Given the description of an element on the screen output the (x, y) to click on. 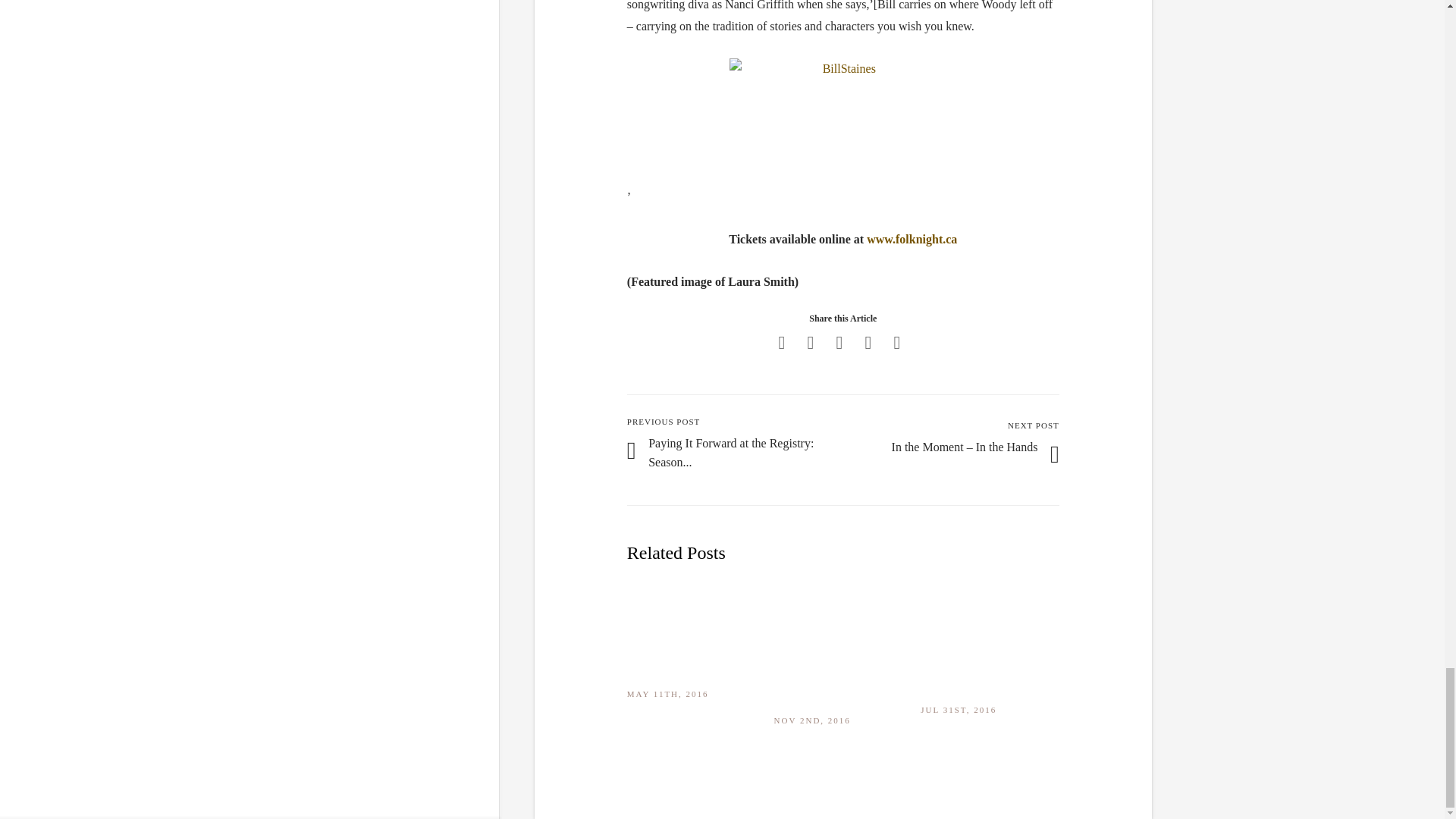
Paying It Forward at the Registry: Season... (730, 452)
www.folknight.ca (911, 238)
Paying It Forward at the Registry: Season 16 (730, 452)
